Given the description of an element on the screen output the (x, y) to click on. 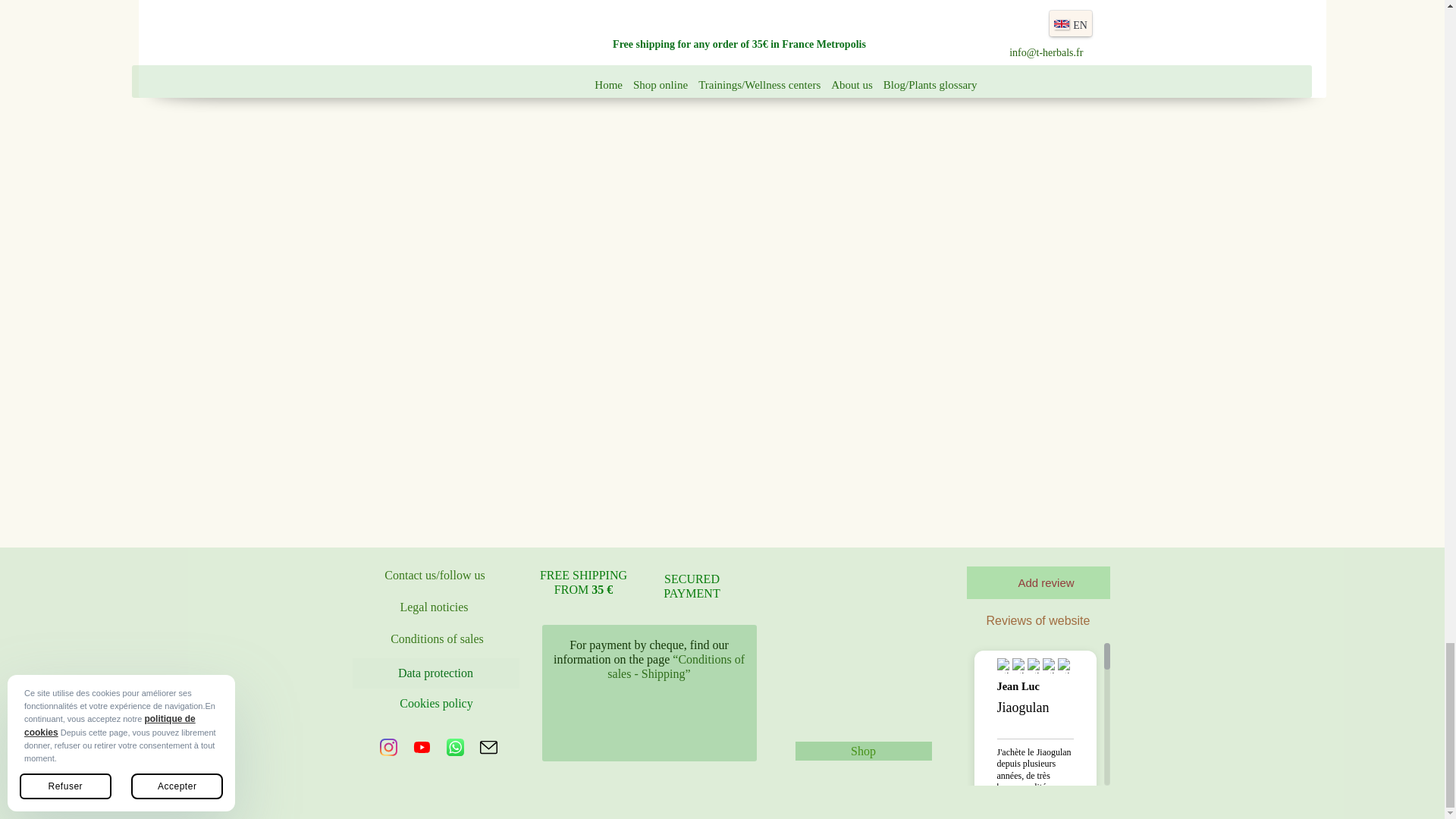
Conditions of sales - Shipping (675, 666)
